Given the description of an element on the screen output the (x, y) to click on. 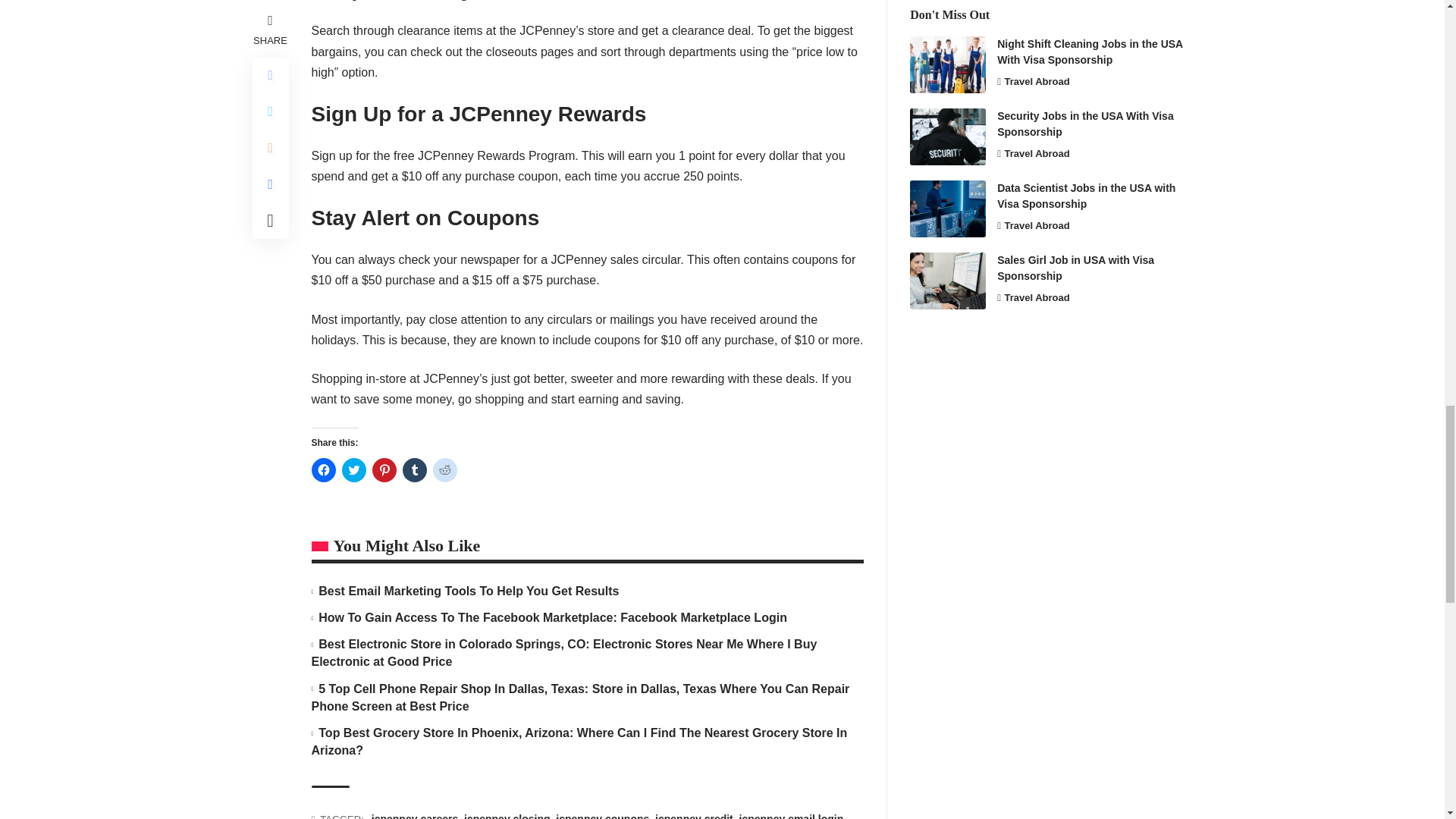
Click to share on Pinterest (383, 469)
Click to share on Tumblr (413, 469)
Click to share on Twitter (352, 469)
Click to share on Reddit (444, 469)
Click to share on Facebook (322, 469)
